Given the description of an element on the screen output the (x, y) to click on. 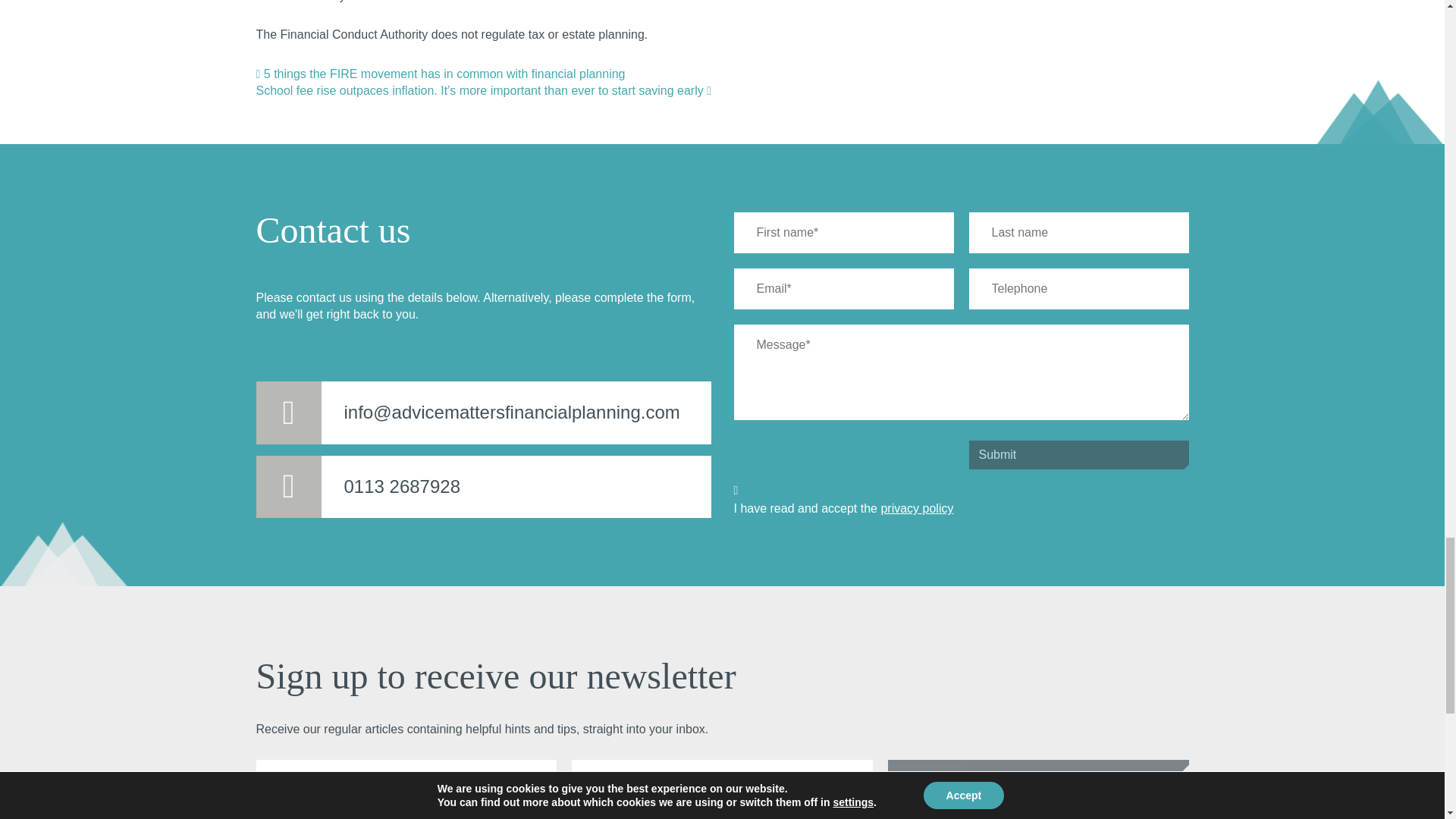
Submit (1038, 780)
Submit (1079, 454)
